Given the description of an element on the screen output the (x, y) to click on. 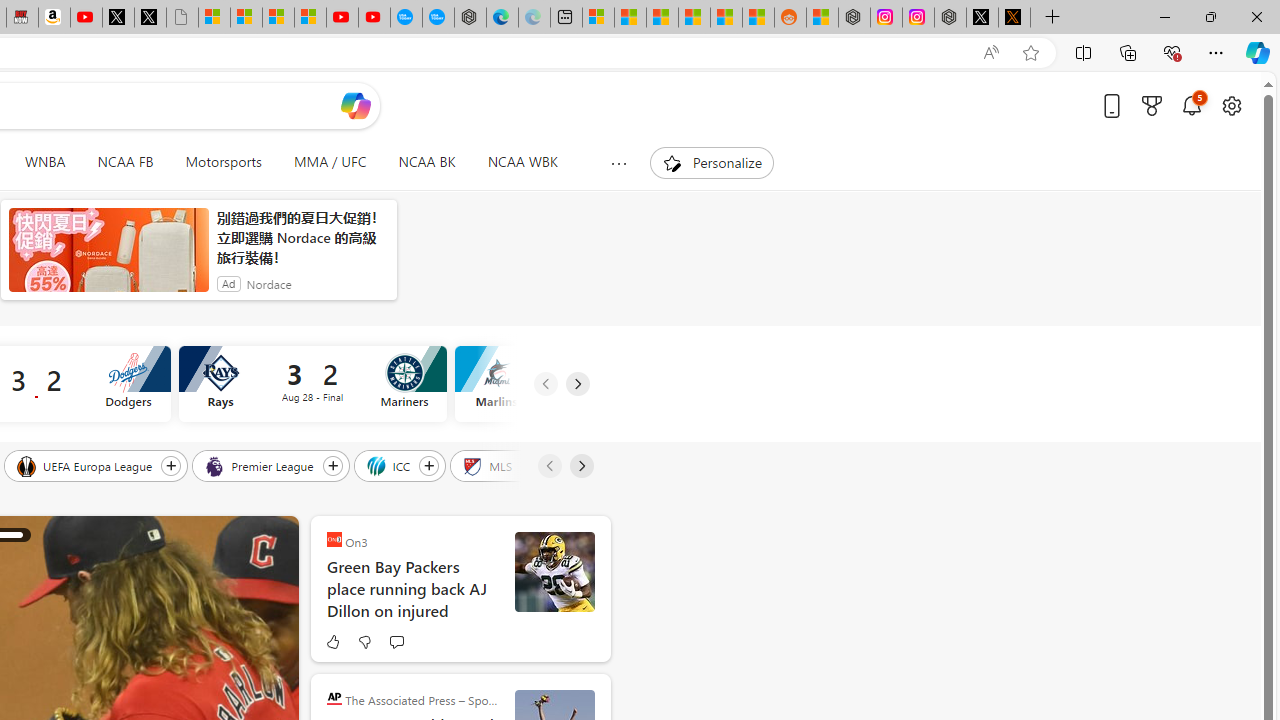
Personalize (711, 162)
NCAA FB (125, 162)
